Given the description of an element on the screen output the (x, y) to click on. 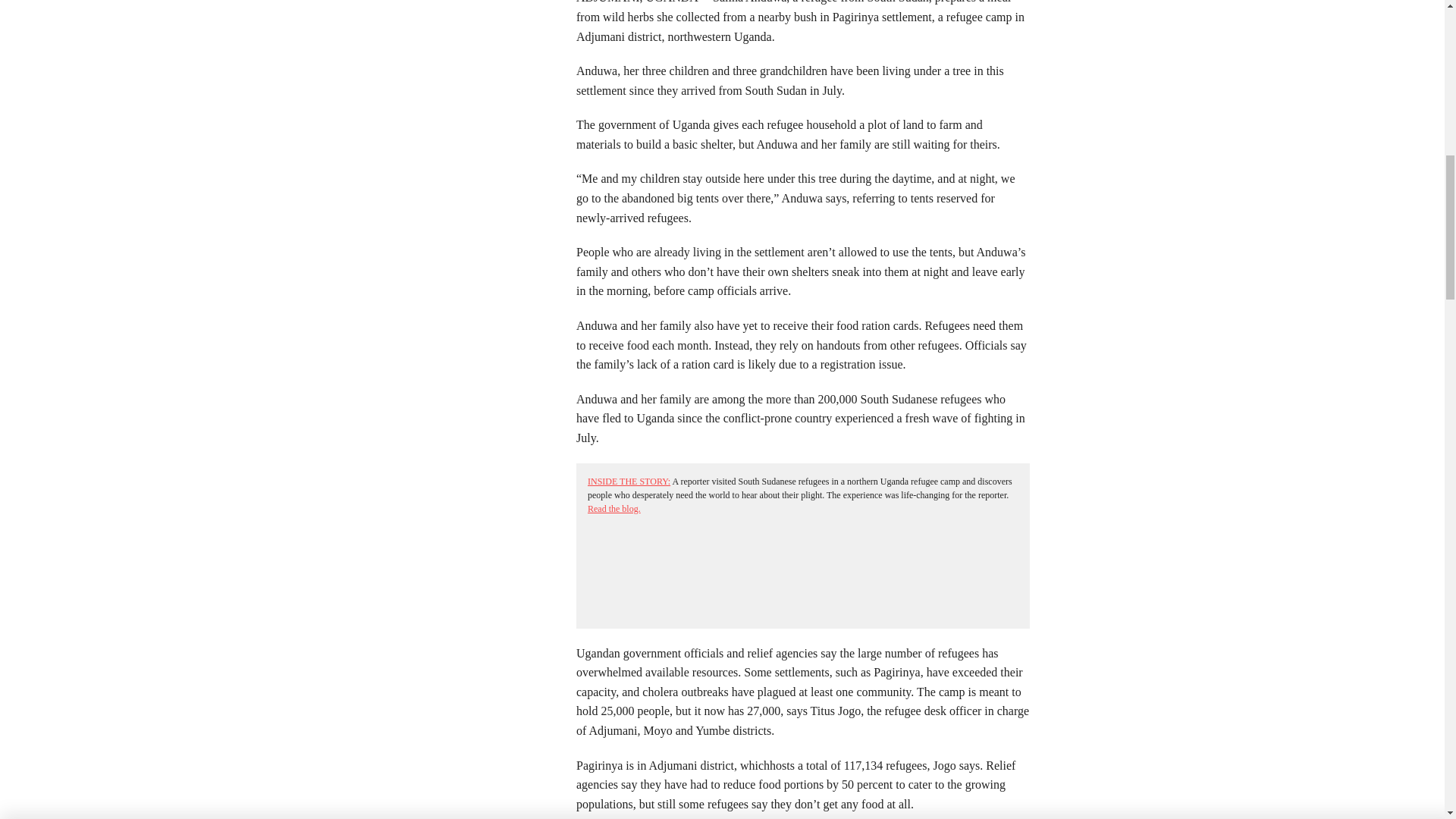
Patricia Lindrio (323, 17)
